Given the description of an element on the screen output the (x, y) to click on. 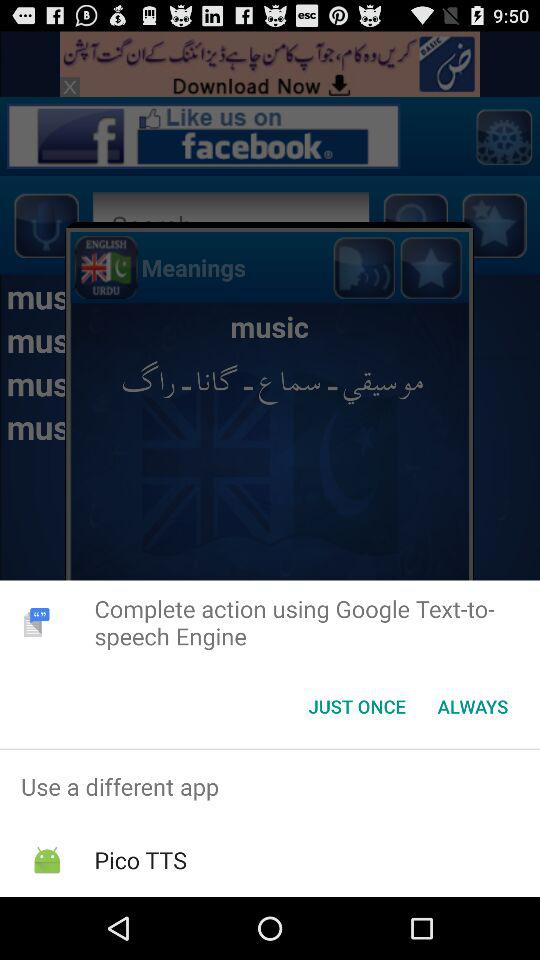
select item at the bottom right corner (472, 706)
